Given the description of an element on the screen output the (x, y) to click on. 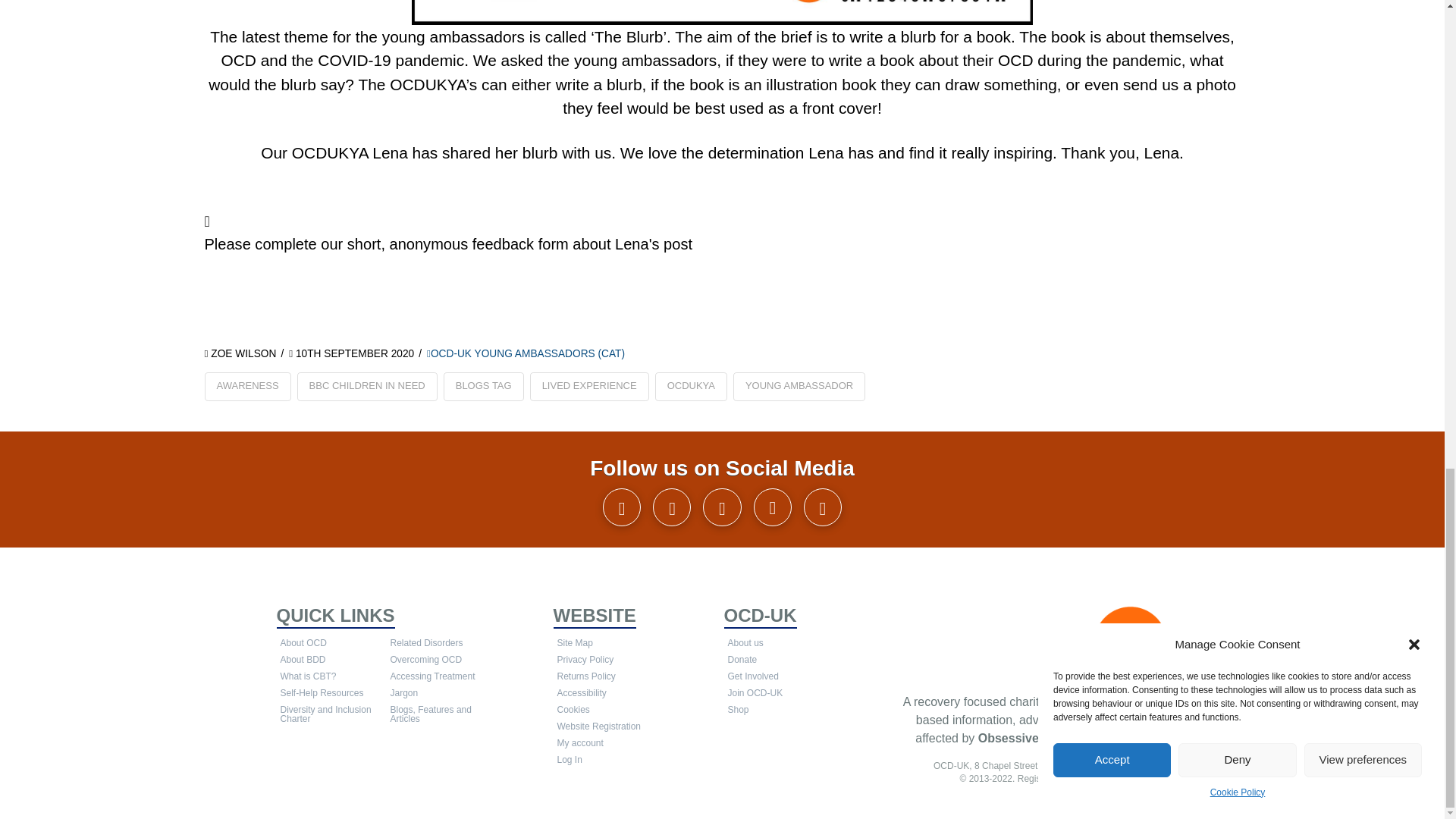
Related Disorders (441, 642)
BBC CHILDREN IN NEED (367, 386)
YOUNG AMBASSADOR (798, 386)
OCDUKYA (690, 386)
AWARENESS (248, 386)
LIVED EXPERIENCE (589, 386)
BLOGS TAG (484, 386)
About OCD (330, 642)
